Given the description of an element on the screen output the (x, y) to click on. 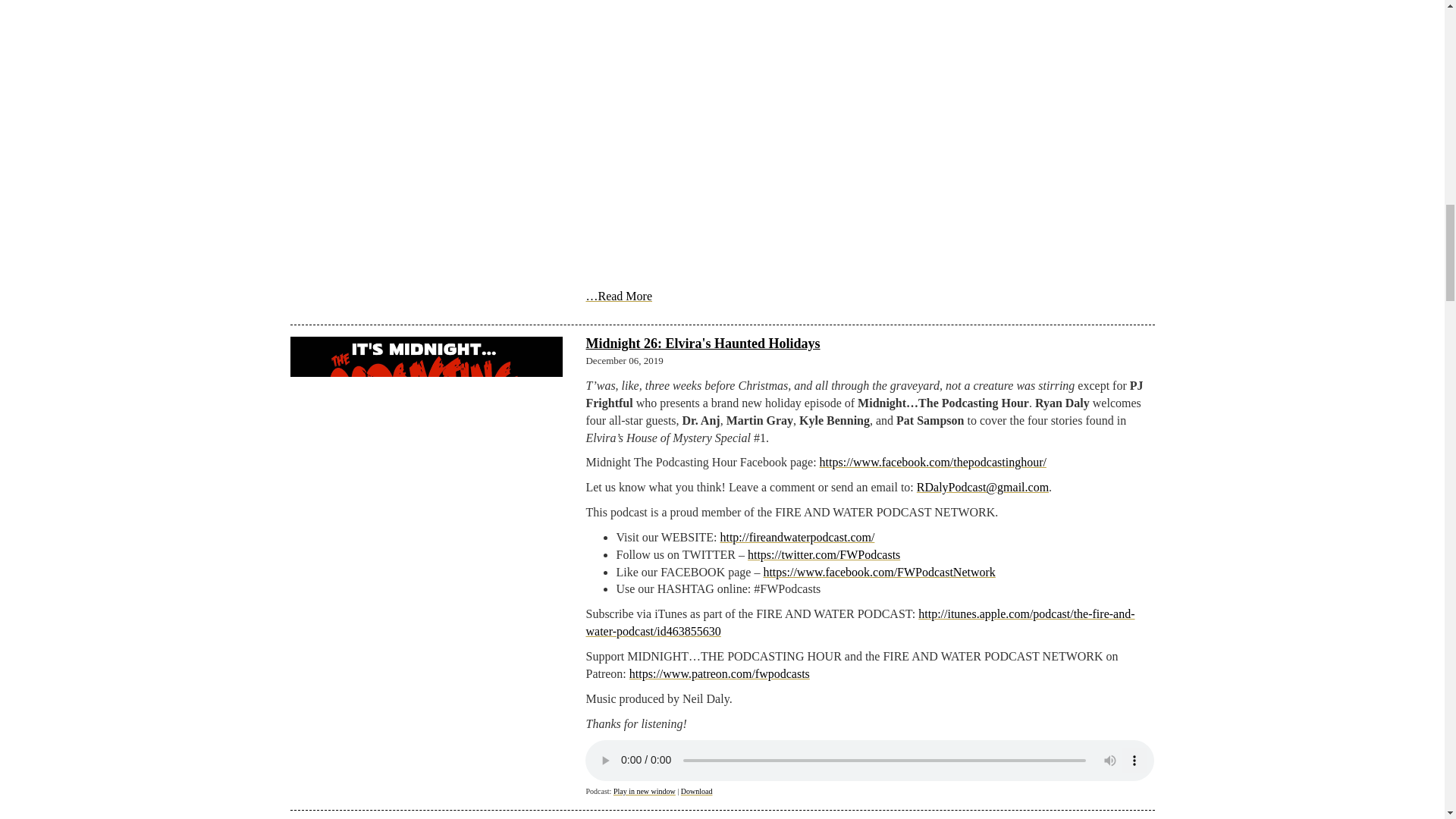
Play in new window (643, 791)
